Given the description of an element on the screen output the (x, y) to click on. 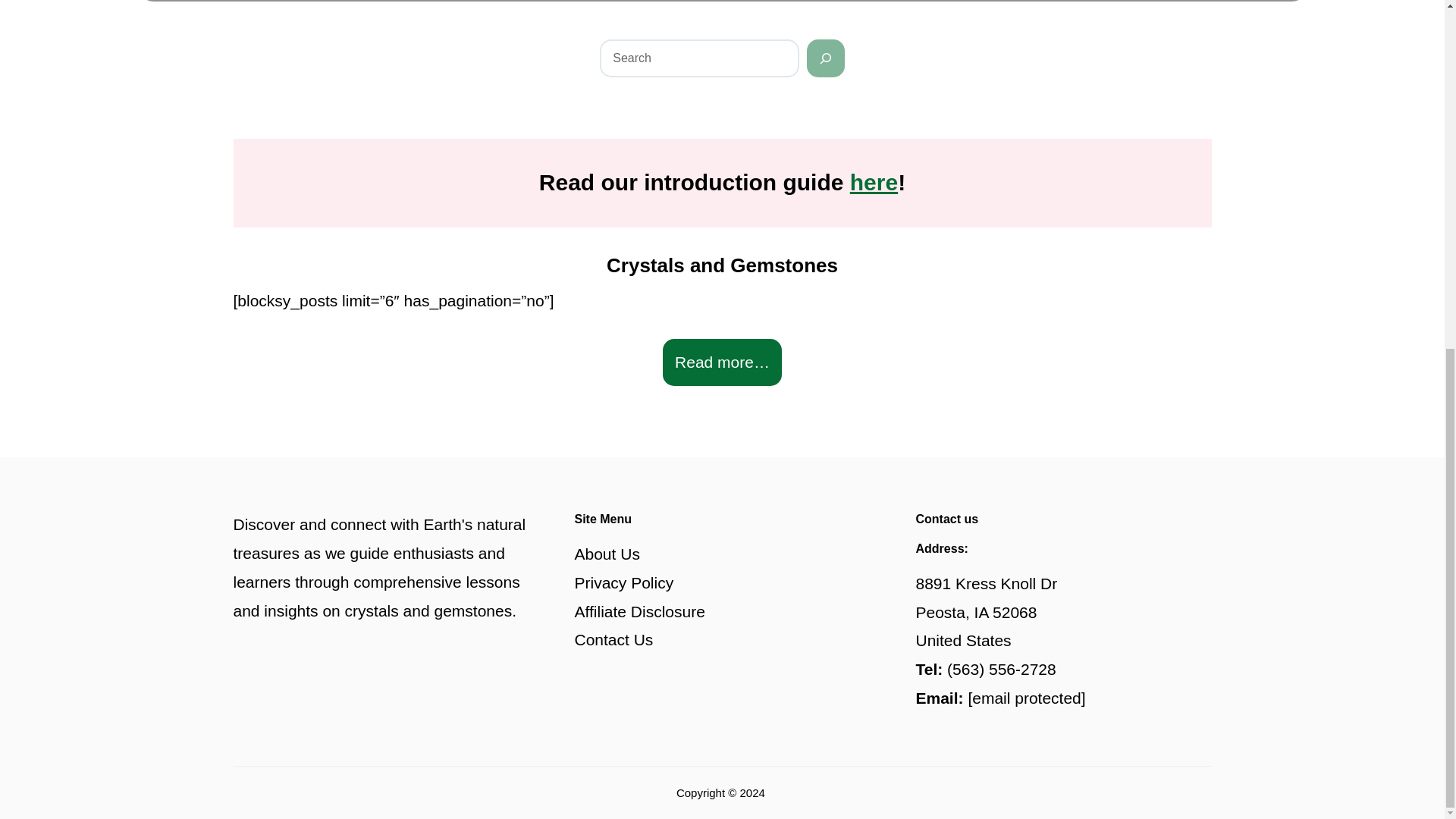
Privacy Policy (624, 582)
Contact Us (614, 639)
here (874, 181)
About Us (607, 553)
Affiliate Disclosure (639, 610)
